Given the description of an element on the screen output the (x, y) to click on. 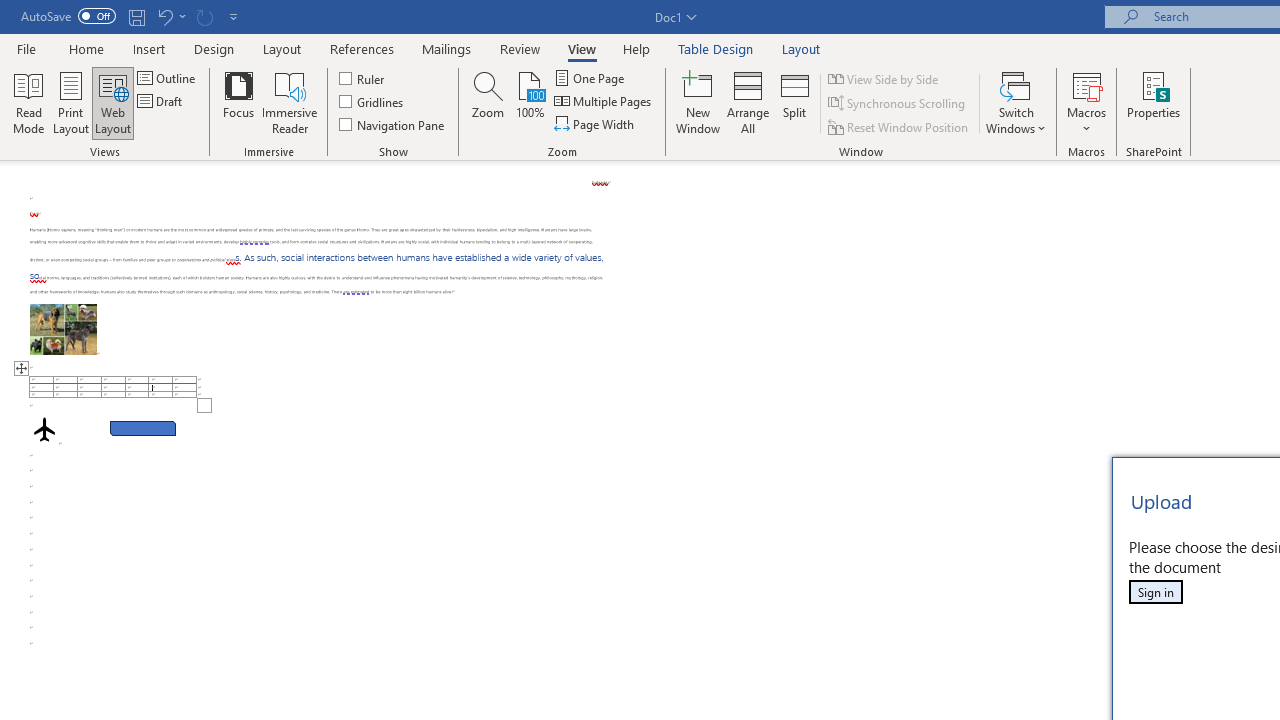
View Side by Side (884, 78)
Outline (168, 78)
Zoom... (488, 102)
Multiple Pages (603, 101)
Arrange All (747, 102)
One Page (590, 78)
Synchronous Scrolling (898, 103)
Can't Repeat (204, 15)
View Macros (1086, 84)
